Given the description of an element on the screen output the (x, y) to click on. 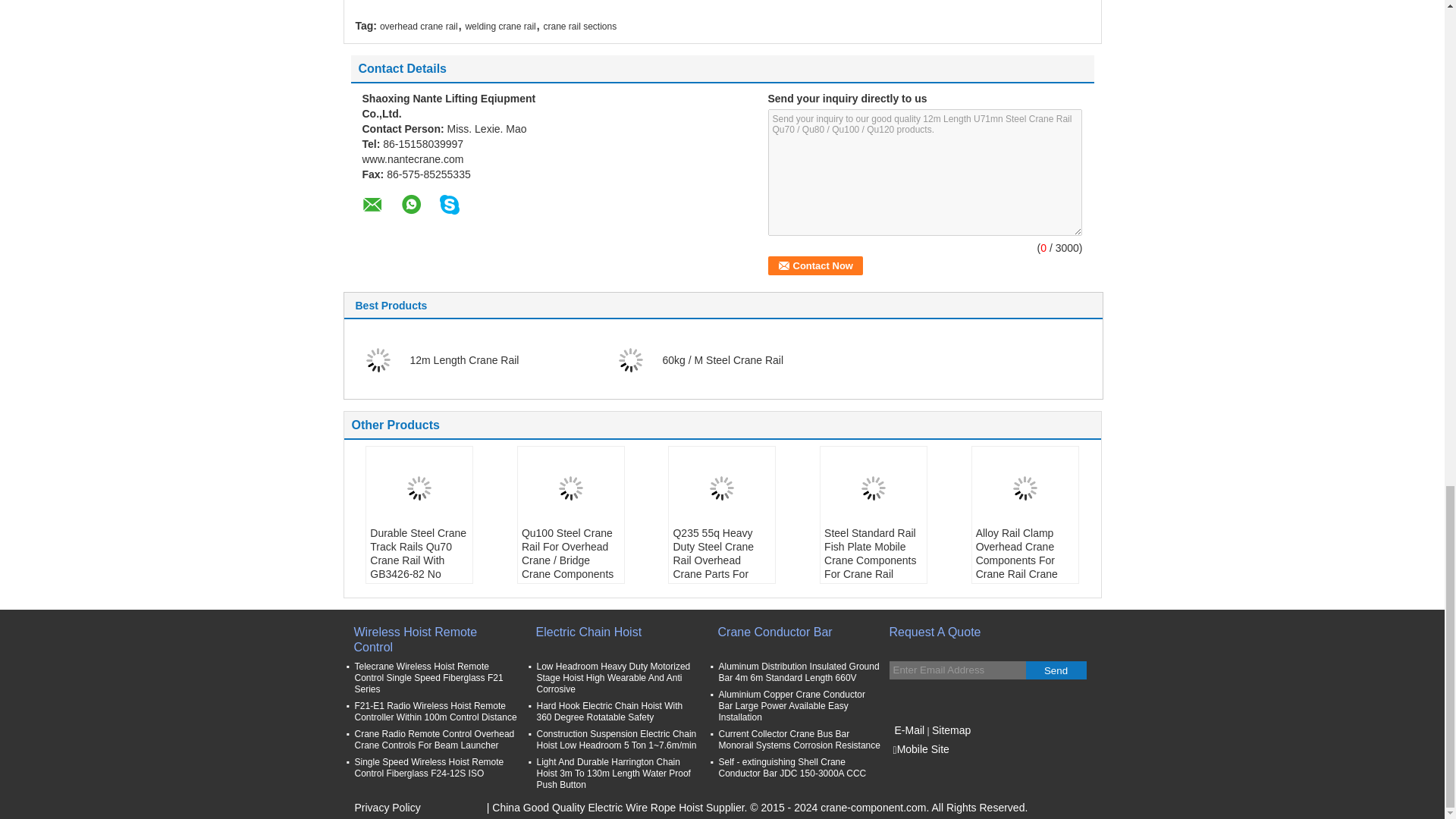
Contact Now (814, 265)
